Given the description of an element on the screen output the (x, y) to click on. 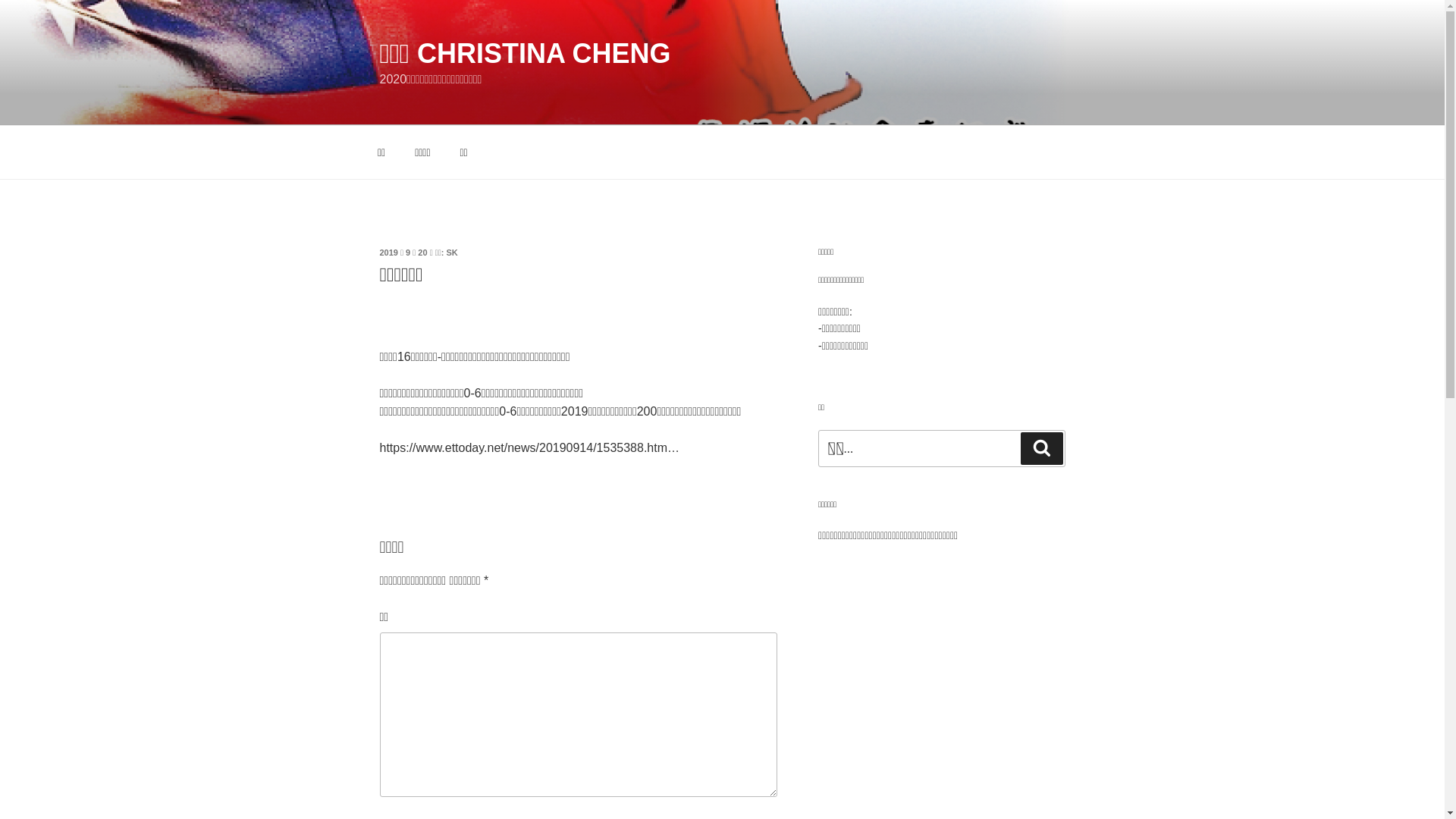
SK Element type: text (451, 252)
